Given the description of an element on the screen output the (x, y) to click on. 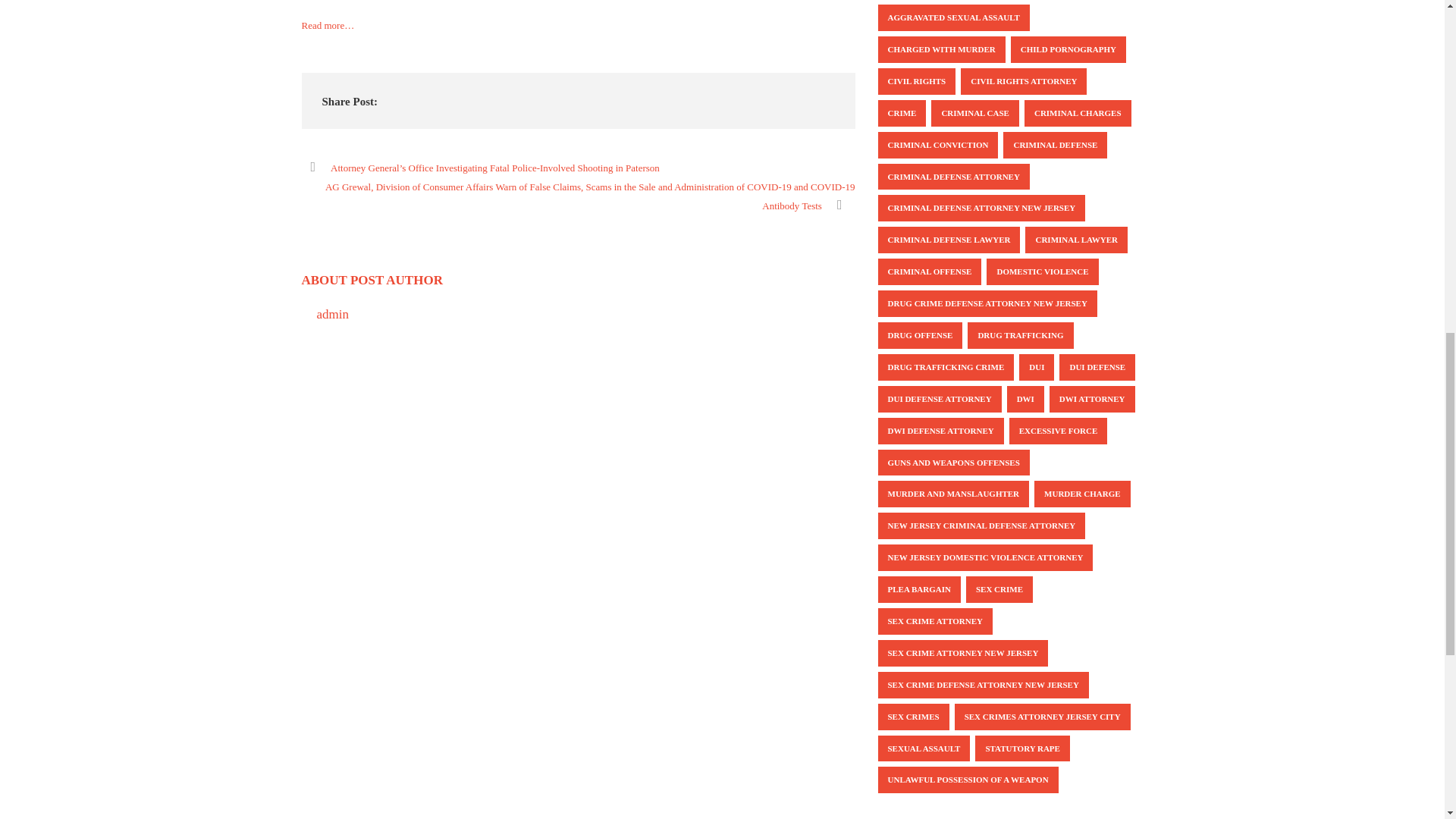
Posts by admin (333, 314)
